Given the description of an element on the screen output the (x, y) to click on. 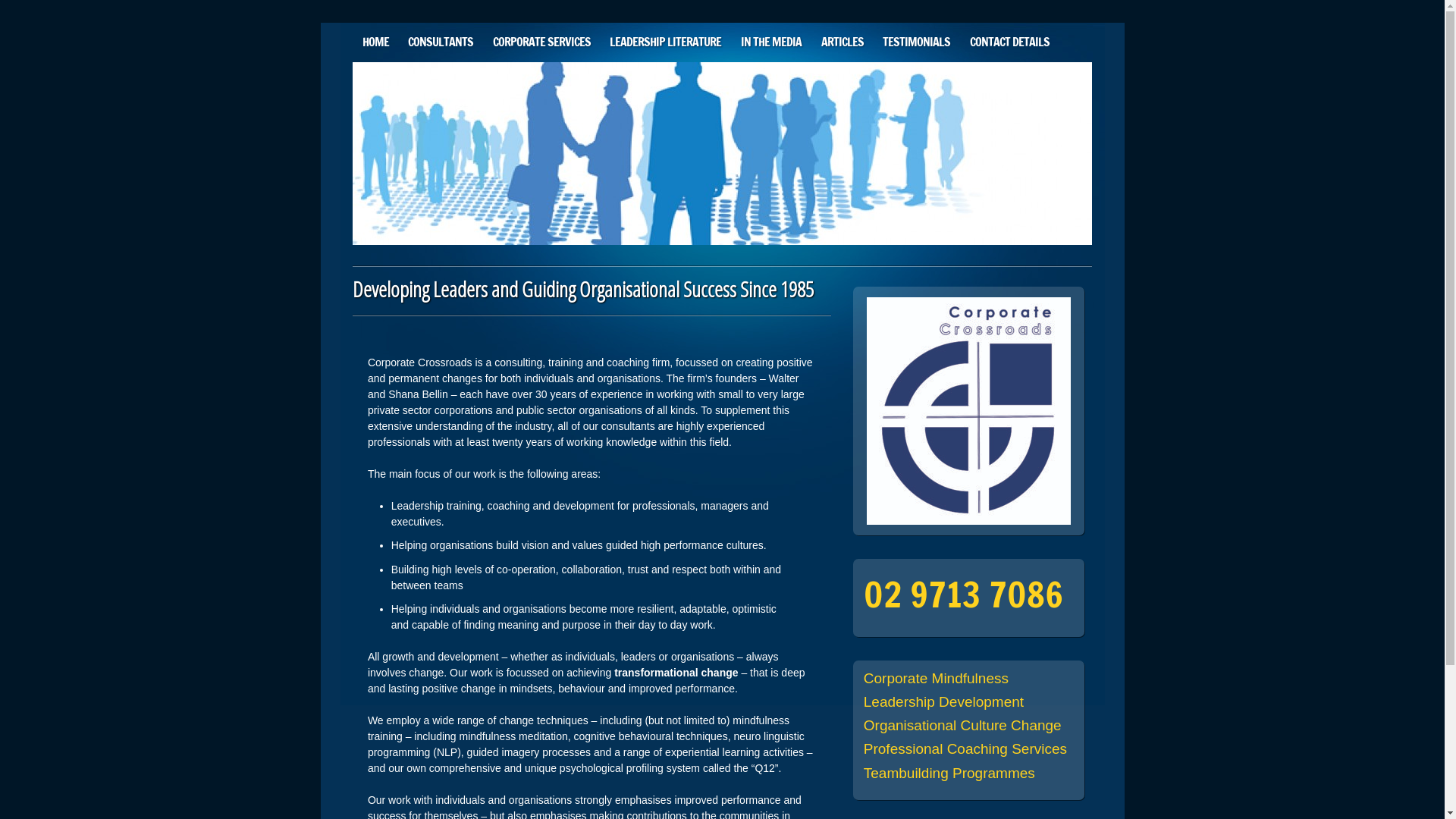
LEADERSHIP LITERATURE Element type: text (665, 41)
Skip to content Element type: text (355, 30)
Corporate Mindfulness Element type: text (935, 678)
IN THE MEDIA Element type: text (771, 41)
Leadership Development Element type: text (943, 701)
ARTICLES Element type: text (842, 41)
Professional Coaching Services Element type: text (964, 748)
TESTIMONIALS Element type: text (916, 41)
Organisational Culture Change Element type: text (962, 725)
HOME Element type: text (375, 41)
Teambuilding Programmes Element type: text (949, 773)
CONSULTANTS Element type: text (440, 41)
CONTACT DETAILS Element type: text (1009, 41)
CORPORATE SERVICES Element type: text (541, 41)
